Given the description of an element on the screen output the (x, y) to click on. 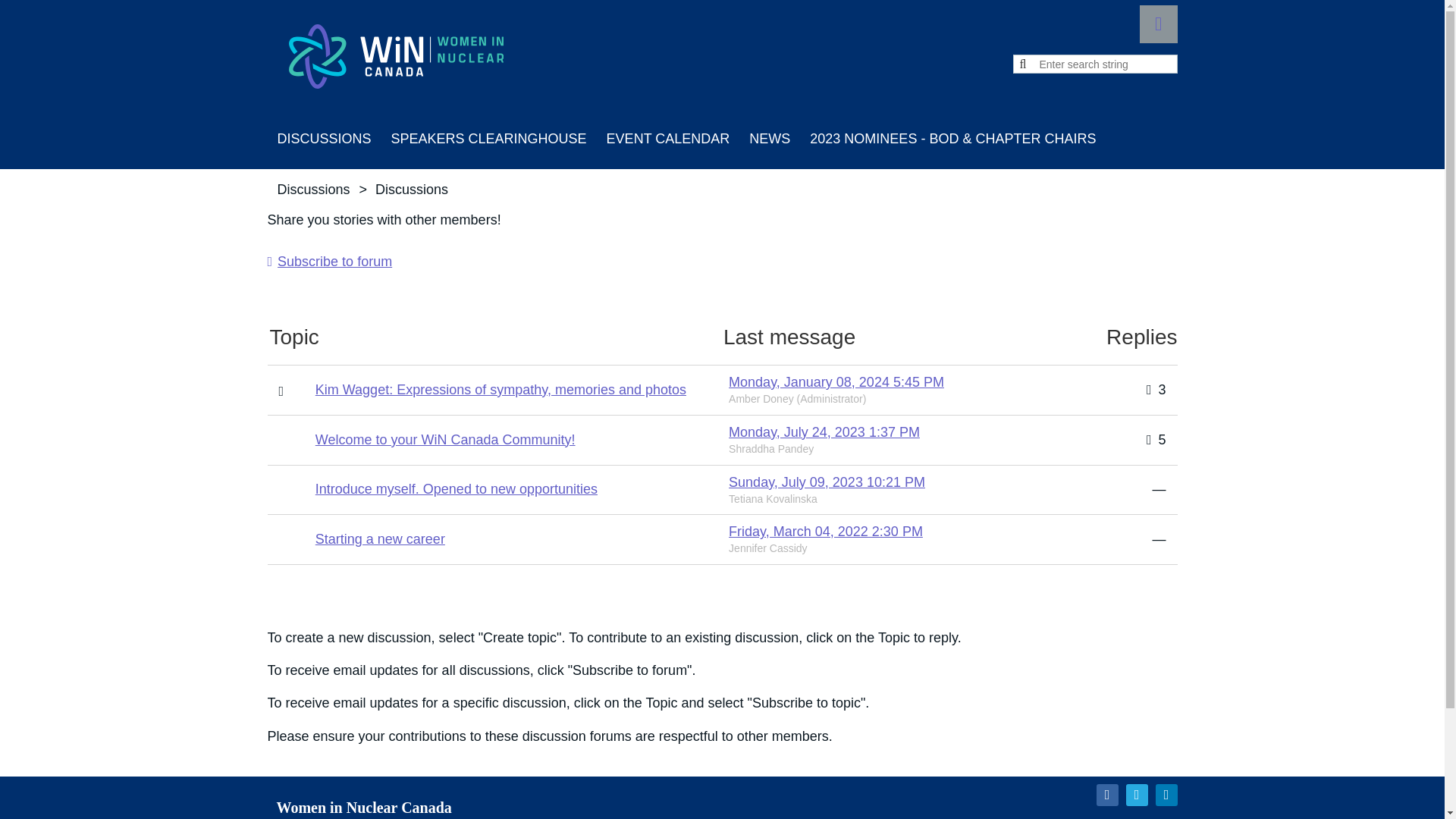
Monday, January 08, 2024 5:45 PM (836, 381)
Discussions (323, 138)
DISCUSSIONS (323, 138)
Log in (1157, 23)
Twitter (1136, 794)
Event calendar (667, 138)
News (769, 138)
NEWS (769, 138)
Sunday, July 09, 2023 10:21 PM (826, 482)
Kim Wagget: Expressions of sympathy, memories and photos (500, 389)
Monday, July 24, 2023 1:37 PM (824, 432)
Introduce myself. Opened to new opportunities (455, 488)
Facebook (1107, 794)
Subscribe to forum (328, 261)
LinkedIn (1166, 794)
